Given the description of an element on the screen output the (x, y) to click on. 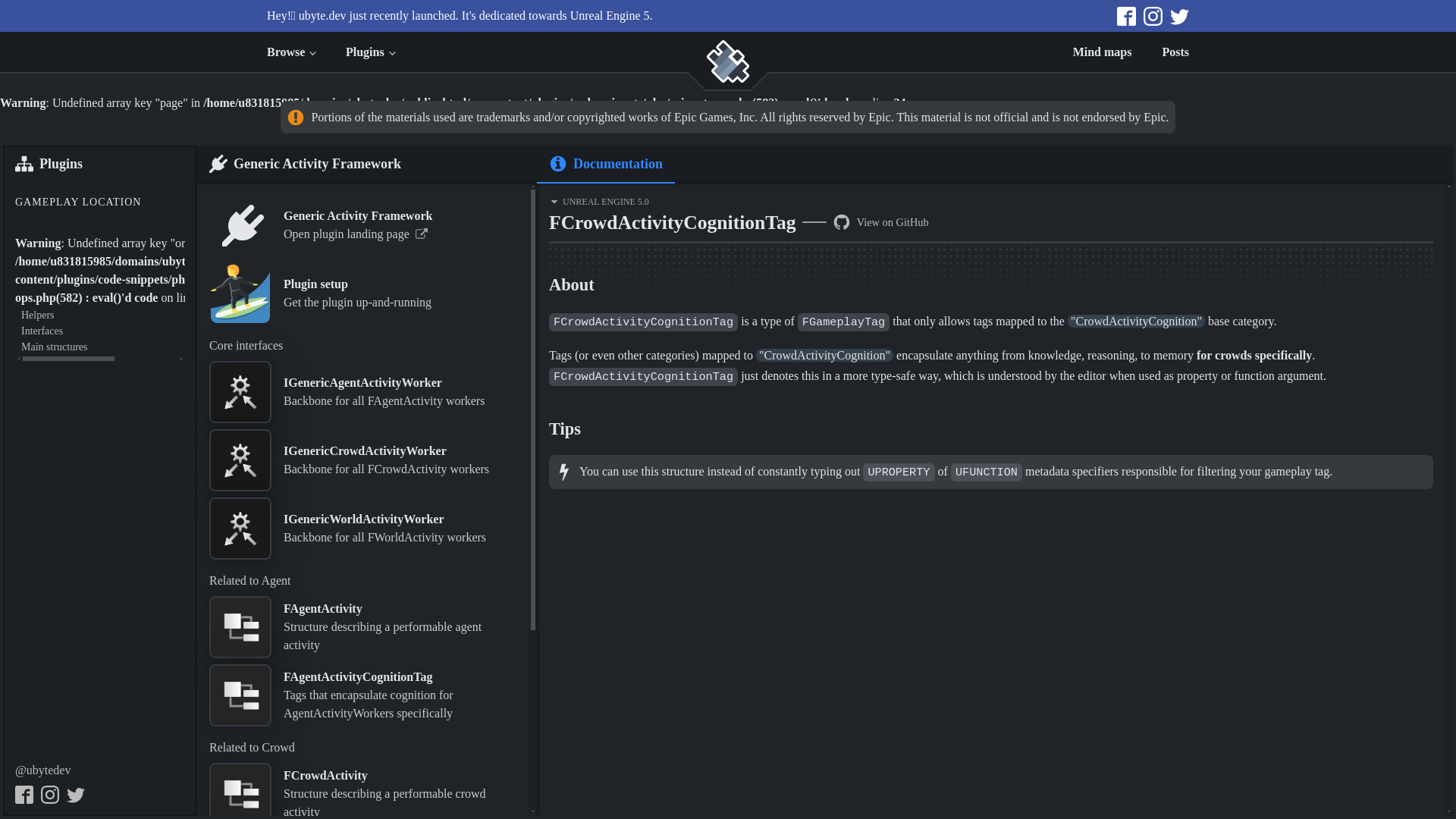
Posts (1175, 51)
Mind maps (1102, 51)
Plugins (369, 51)
Browse (290, 51)
